Given the description of an element on the screen output the (x, y) to click on. 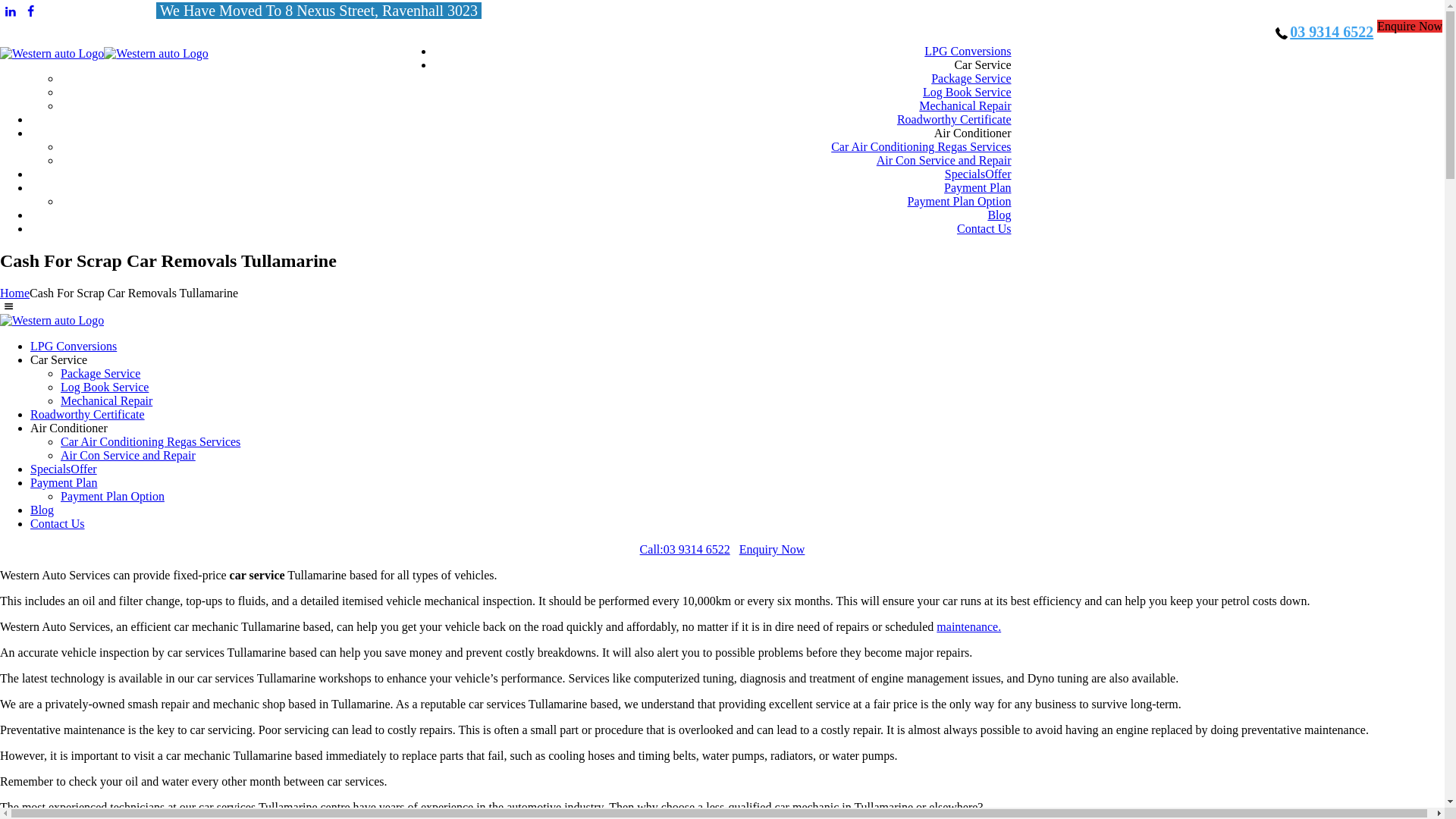
Home Element type: text (14, 292)
Blog Element type: text (998, 214)
Car Air Conditioning Regas Services Element type: text (150, 441)
Contact Us Element type: text (57, 523)
Car Service Element type: text (981, 64)
Blog Element type: text (41, 509)
LPG Conversions Element type: text (73, 345)
Payment Plan Option Element type: text (959, 200)
Car Air Conditioning Regas Services Element type: text (920, 146)
Enquire Now Element type: text (1409, 25)
Air Con Service and Repair Element type: text (943, 159)
Car Service Element type: text (58, 359)
Package Service Element type: text (970, 78)
Contact Us Element type: text (984, 228)
Enquiry Now Element type: text (772, 548)
Payment Plan Element type: text (63, 482)
Roadworthy Certificate Element type: text (954, 118)
SpecialsOffer Element type: text (977, 173)
LPG Conversions Element type: text (967, 50)
Payment Plan Element type: text (977, 187)
Air Conditioner Element type: text (972, 132)
maintenance. Element type: text (968, 626)
Mechanical Repair Element type: text (964, 105)
SpecialsOffer Element type: text (63, 468)
Log Book Service Element type: text (104, 386)
Call:03 9314 6522 Element type: text (685, 548)
Air Con Service and Repair Element type: text (127, 454)
03 9314 6522 Element type: text (1331, 31)
Mechanical Repair Element type: text (106, 400)
Package Service Element type: text (100, 373)
Log Book Service Element type: text (966, 91)
Payment Plan Option Element type: text (112, 495)
Air Conditioner Element type: text (68, 427)
Roadworthy Certificate Element type: text (87, 413)
